Given the description of an element on the screen output the (x, y) to click on. 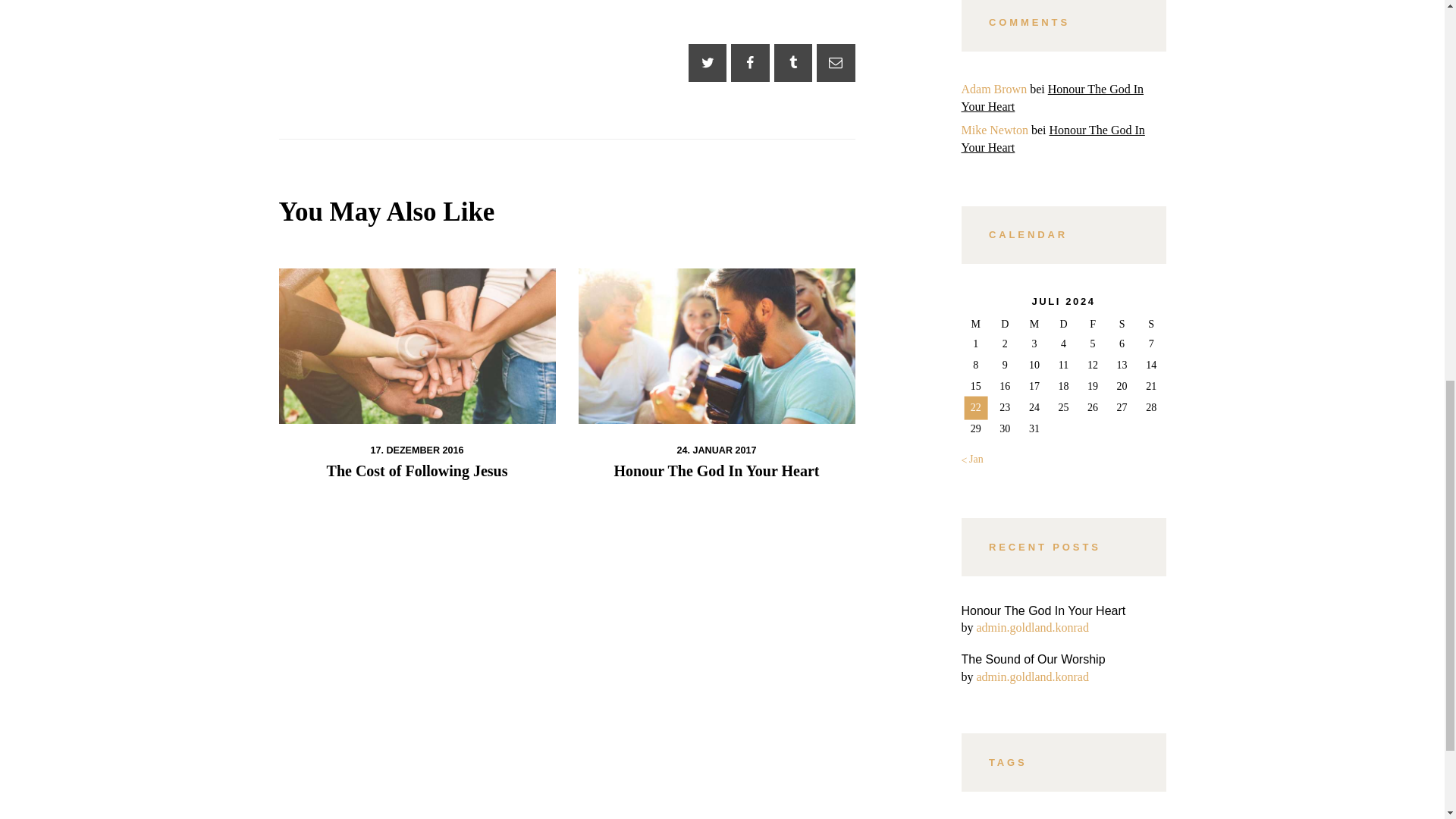
The Cost of Following Jesus (417, 470)
Honour The God In Your Heart (716, 470)
Samstag (1121, 323)
24. JANUAR 2017 (716, 450)
Mittwoch (1034, 323)
Montag (975, 323)
Dienstag (1005, 323)
Donnerstag (1063, 323)
17. DEZEMBER 2016 (416, 450)
Sonntag (1151, 323)
Freitag (1093, 323)
Honour The God In Your Heart (1052, 97)
